Given the description of an element on the screen output the (x, y) to click on. 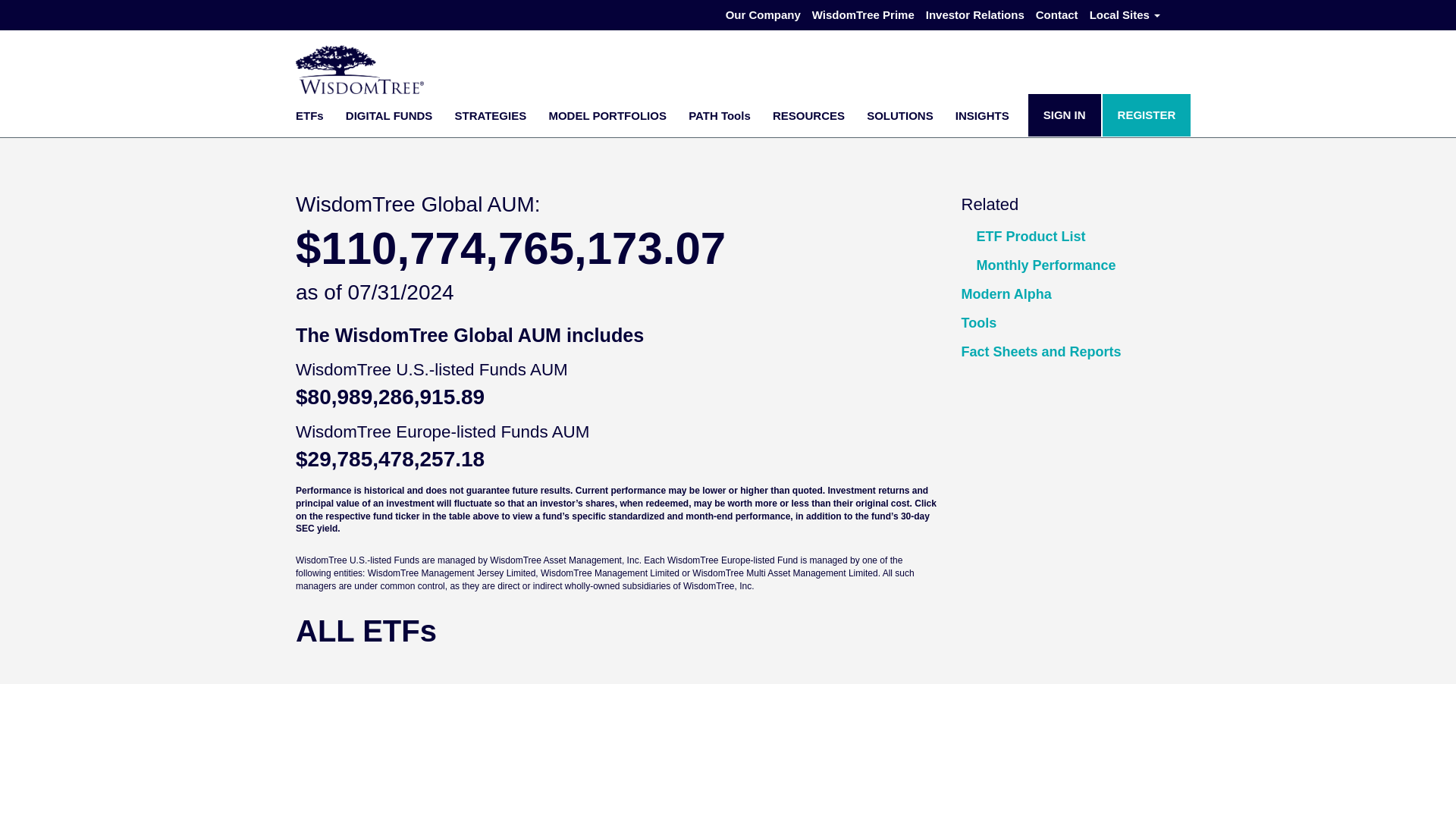
Investor Relations (975, 14)
Our Company (762, 14)
Contact (1056, 14)
WisdomTree Prime (863, 14)
